Given the description of an element on the screen output the (x, y) to click on. 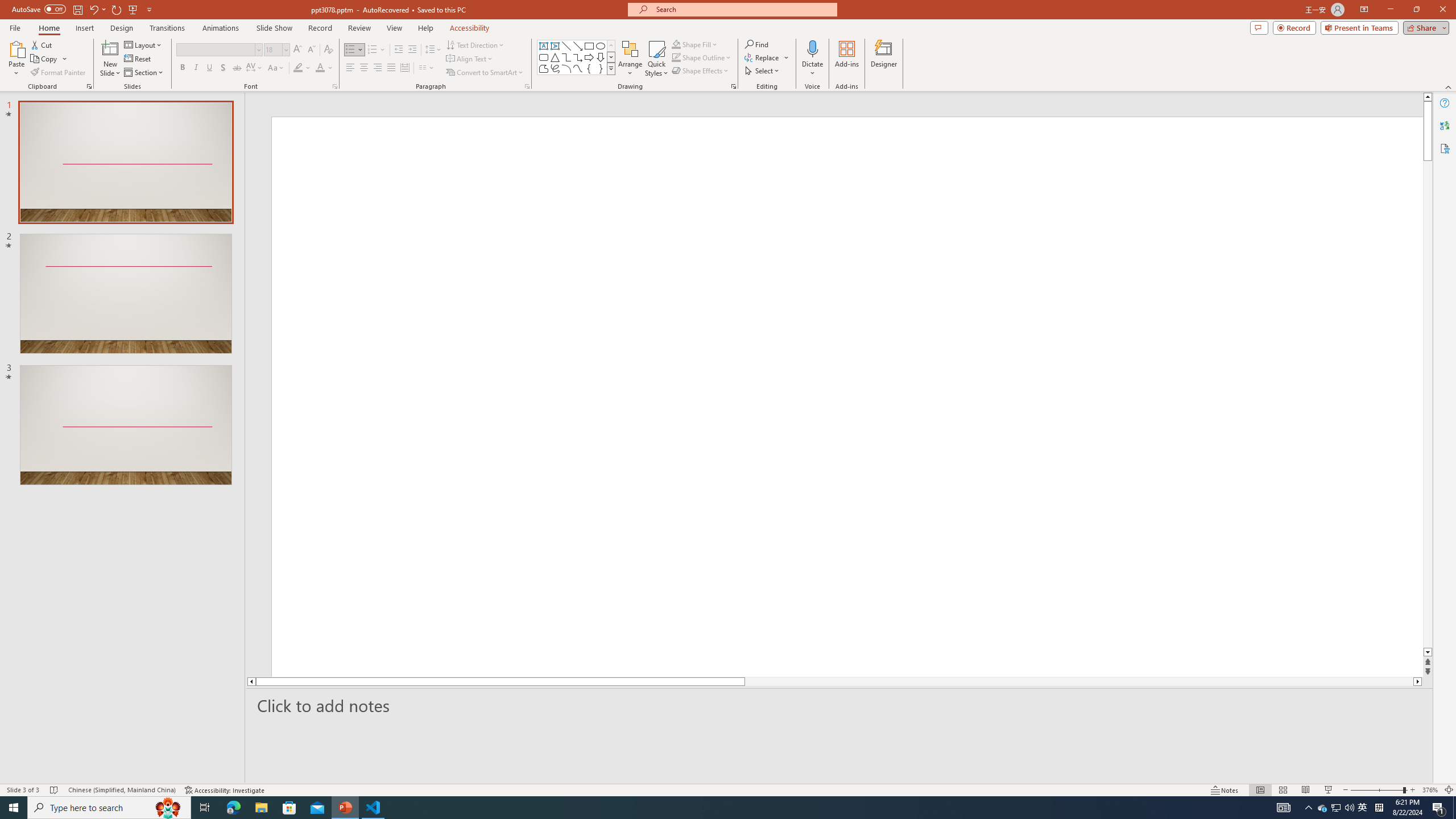
Zoom 376% (1430, 790)
Title TextBox (790, 476)
